Given the description of an element on the screen output the (x, y) to click on. 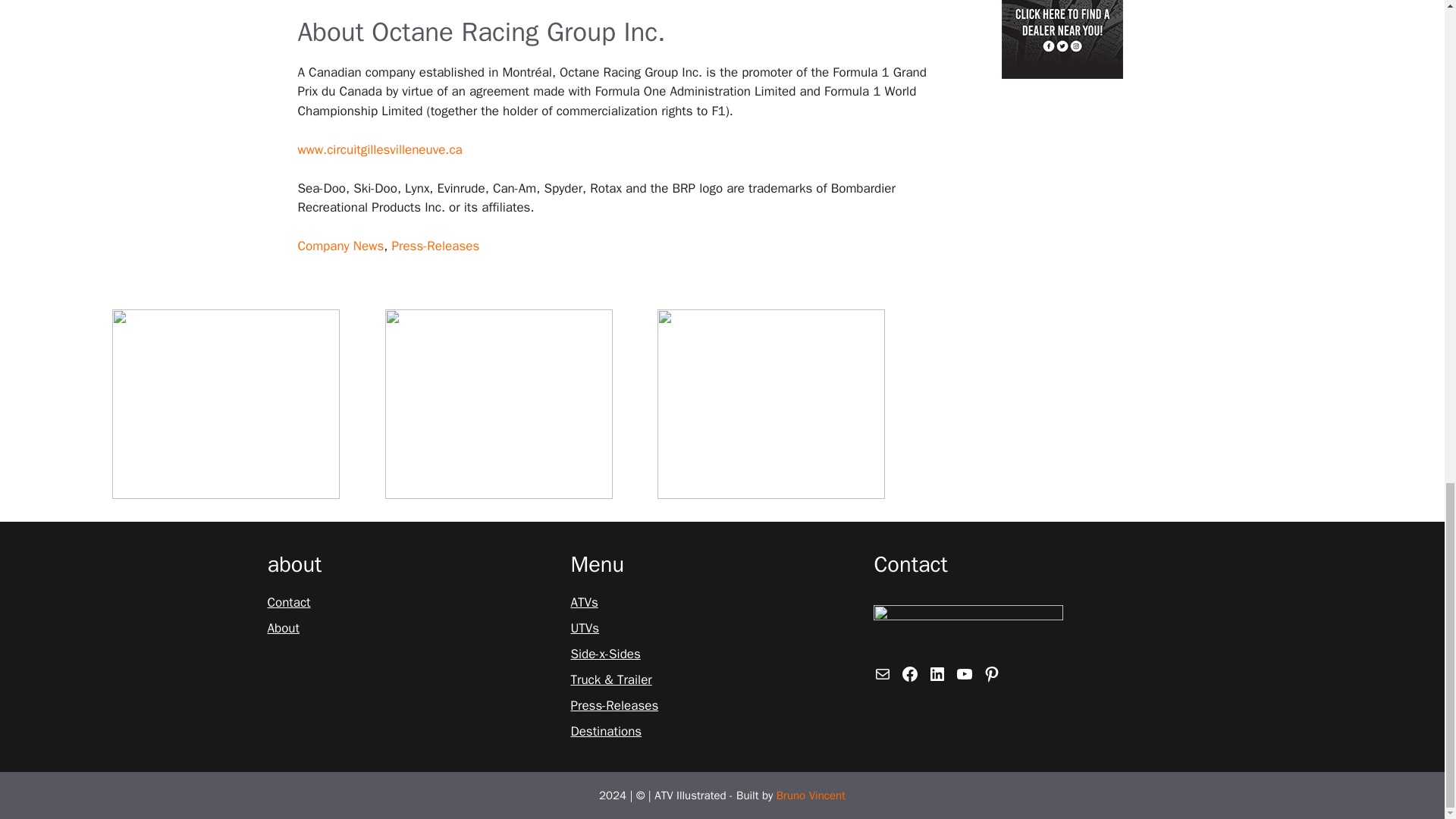
Contact (288, 602)
Press-Releases (435, 245)
Destinations (606, 731)
www.circuitgillesvilleneuve.ca (379, 149)
Press-Releases (614, 705)
ATVs (583, 602)
Company News (340, 245)
About (282, 628)
Side-x-Sides (605, 654)
UTVs (584, 628)
Logo-250-w (967, 629)
